Given the description of an element on the screen output the (x, y) to click on. 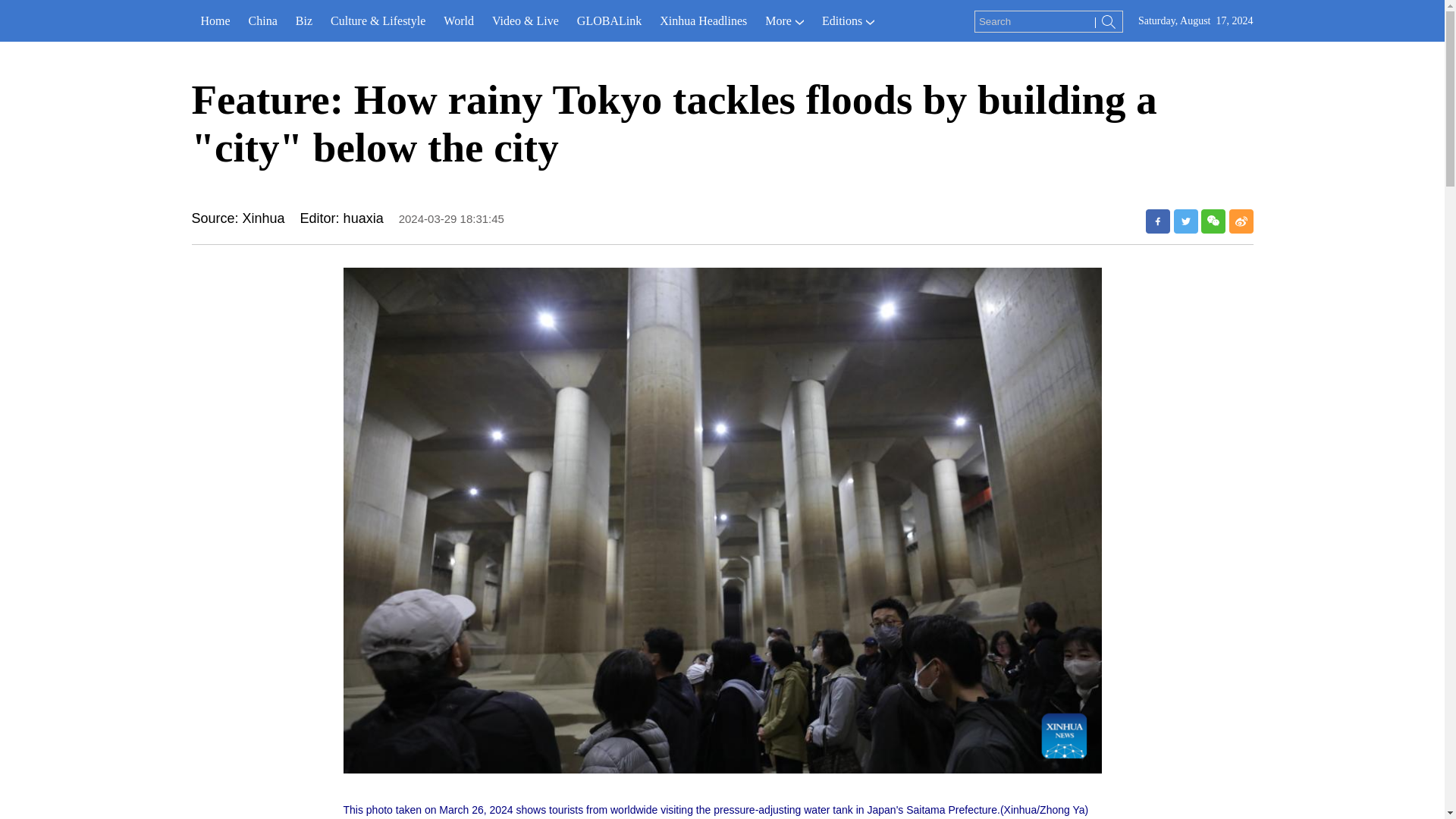
GLOBALink (608, 20)
Home (214, 20)
China (263, 20)
Xinhua Headlines (702, 20)
World (458, 20)
Editions (847, 20)
More (783, 20)
